Given the description of an element on the screen output the (x, y) to click on. 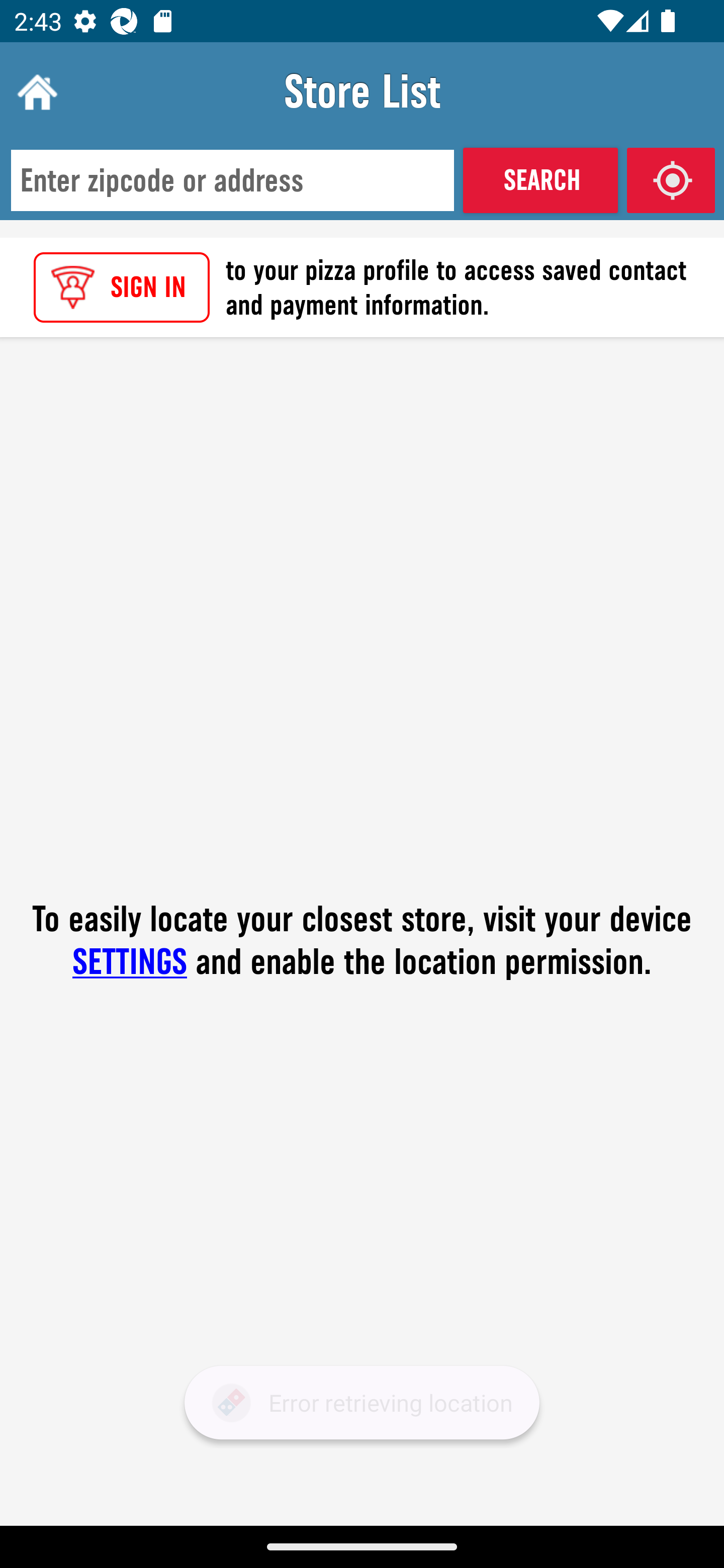
Home (35, 91)
SEARCH (540, 180)
Use Current Location (670, 180)
Enter zipcode or address (231, 180)
SIGN IN (121, 287)
